Given the description of an element on the screen output the (x, y) to click on. 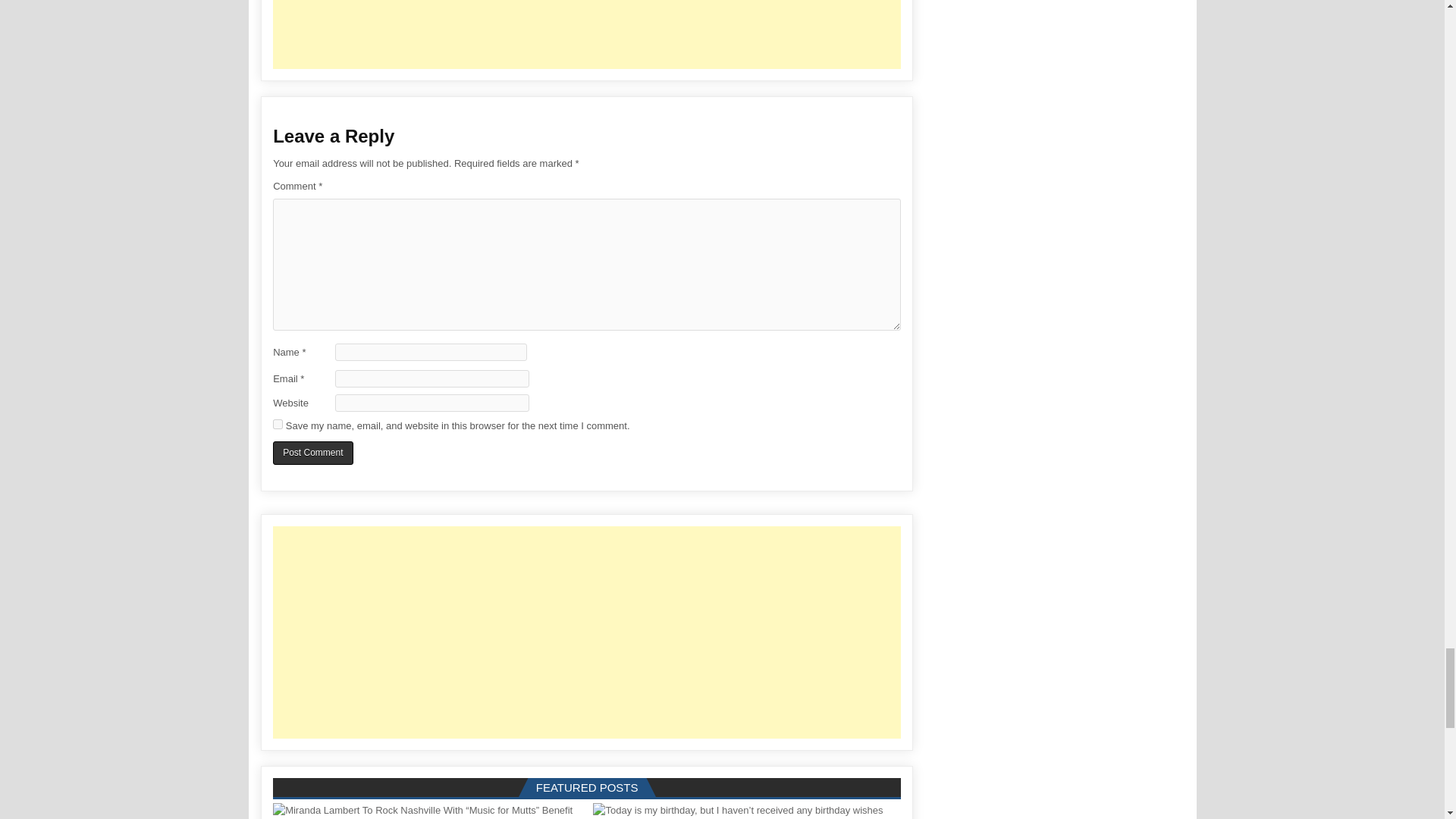
yes (277, 424)
Post Comment (312, 453)
